Given the description of an element on the screen output the (x, y) to click on. 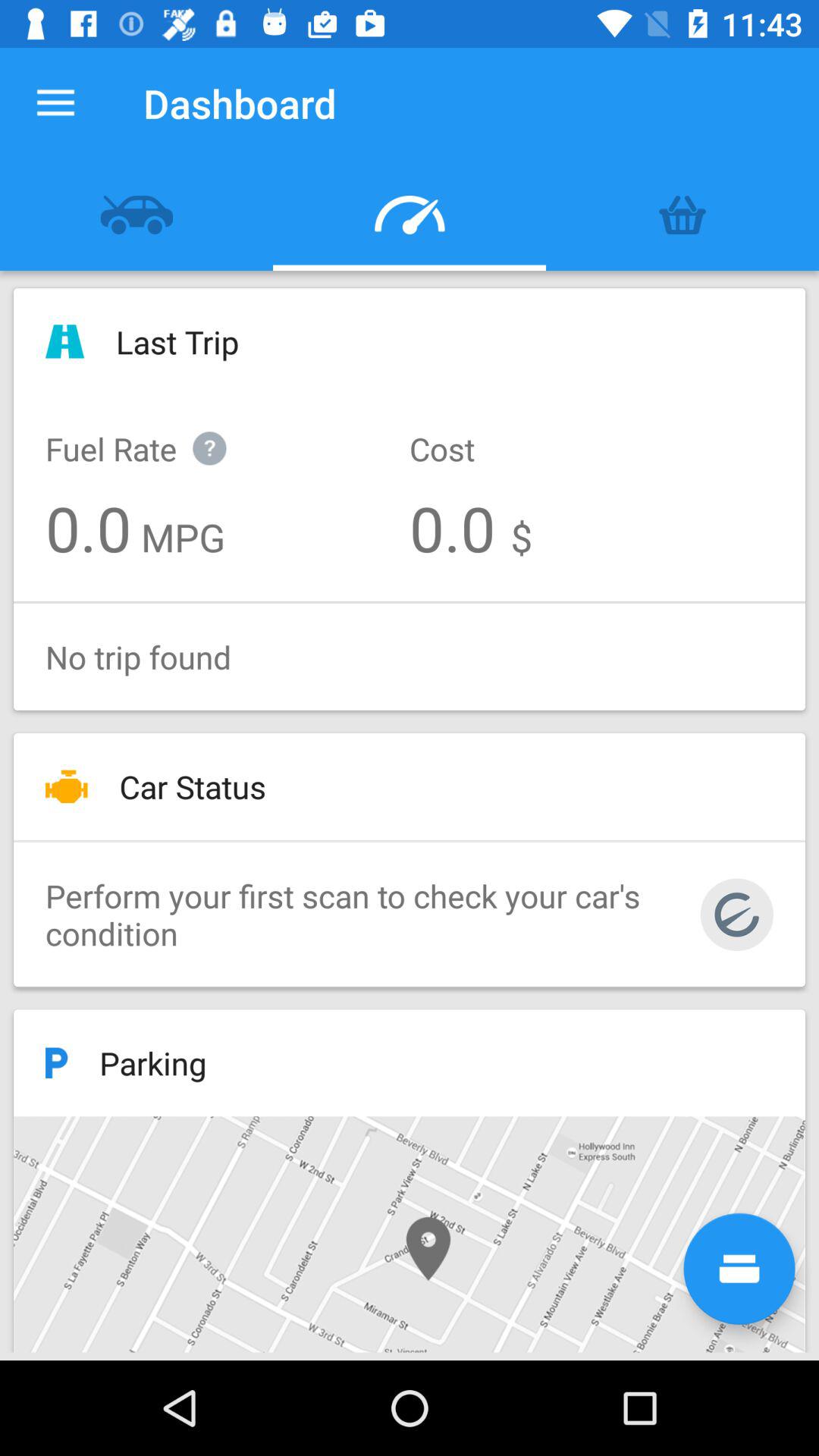
tap item below perform your first (739, 1268)
